Given the description of an element on the screen output the (x, y) to click on. 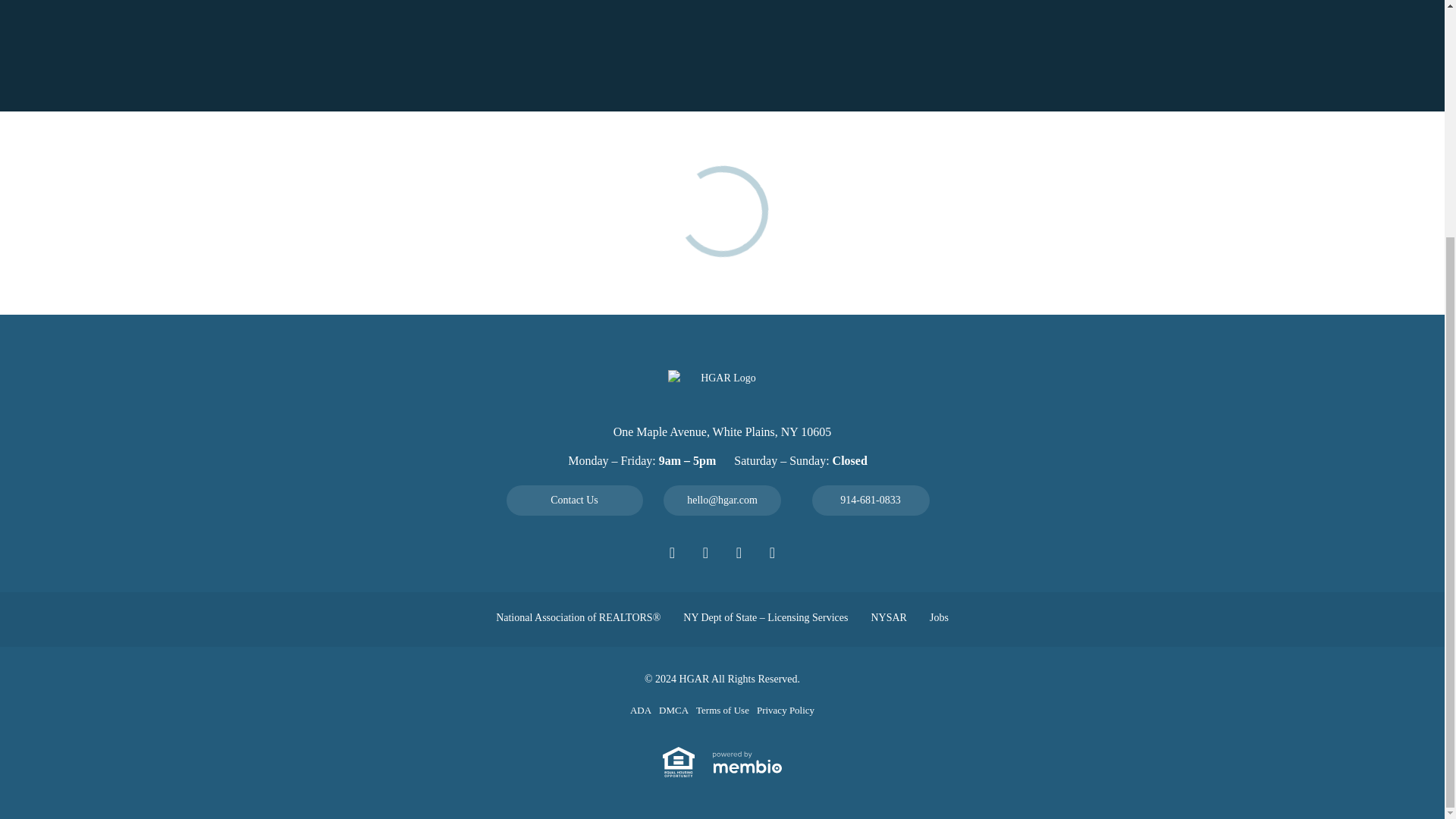
Equal Housing Opportunity (678, 761)
Powered by Membio (748, 762)
